Given the description of an element on the screen output the (x, y) to click on. 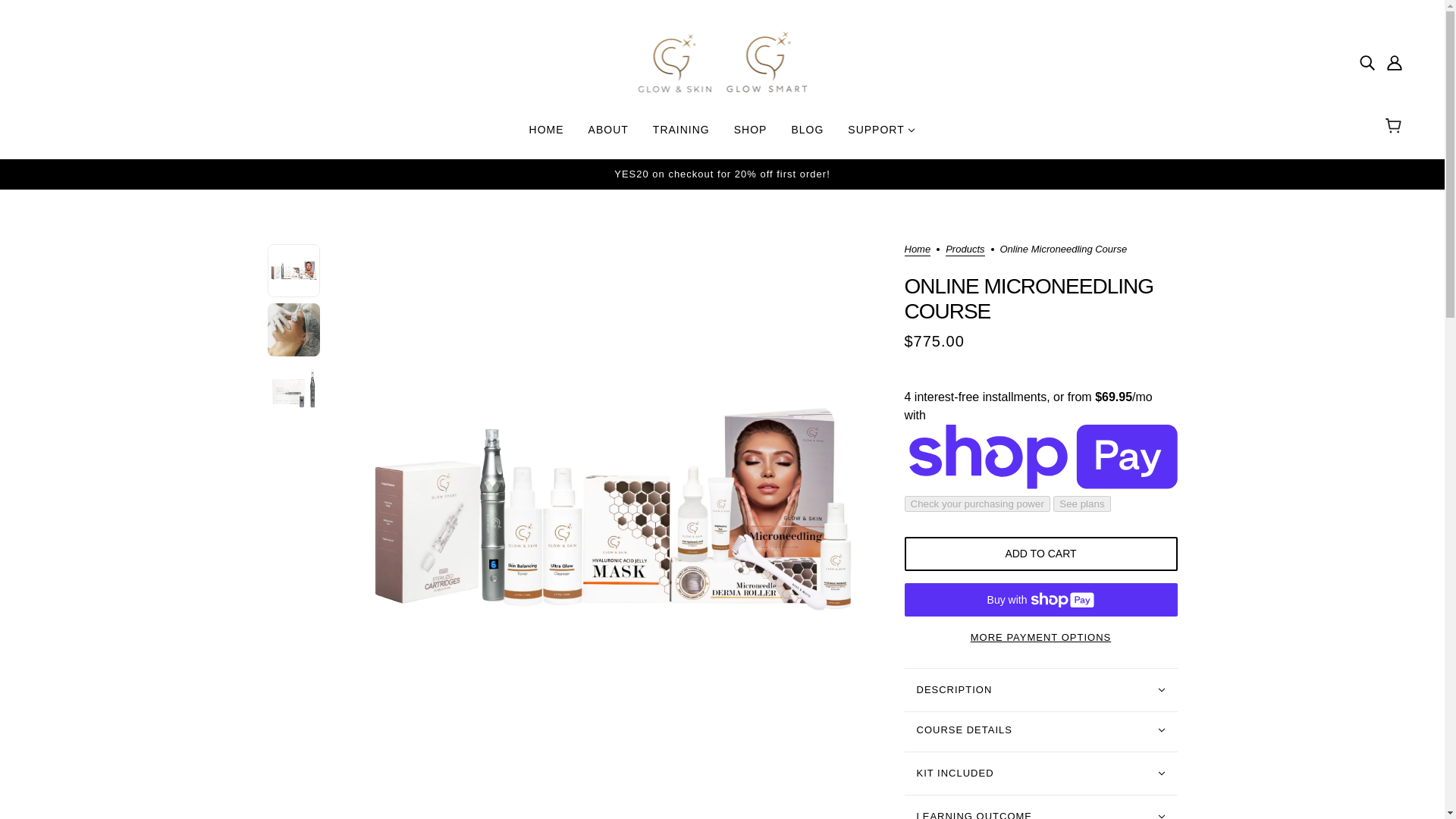
ADD TO CART (1040, 553)
DESCRIPTION (1040, 690)
BLOG (806, 135)
KIT INCLUDED (1040, 773)
Products (964, 250)
TRAINING (681, 135)
SUPPORT (881, 135)
SHOP (750, 135)
Home (917, 250)
HOME (546, 135)
COURSE DETAILS (1040, 730)
ABOUT (608, 135)
LEARNING OUTCOME (1040, 807)
MORE PAYMENT OPTIONS (1040, 631)
